Given the description of an element on the screen output the (x, y) to click on. 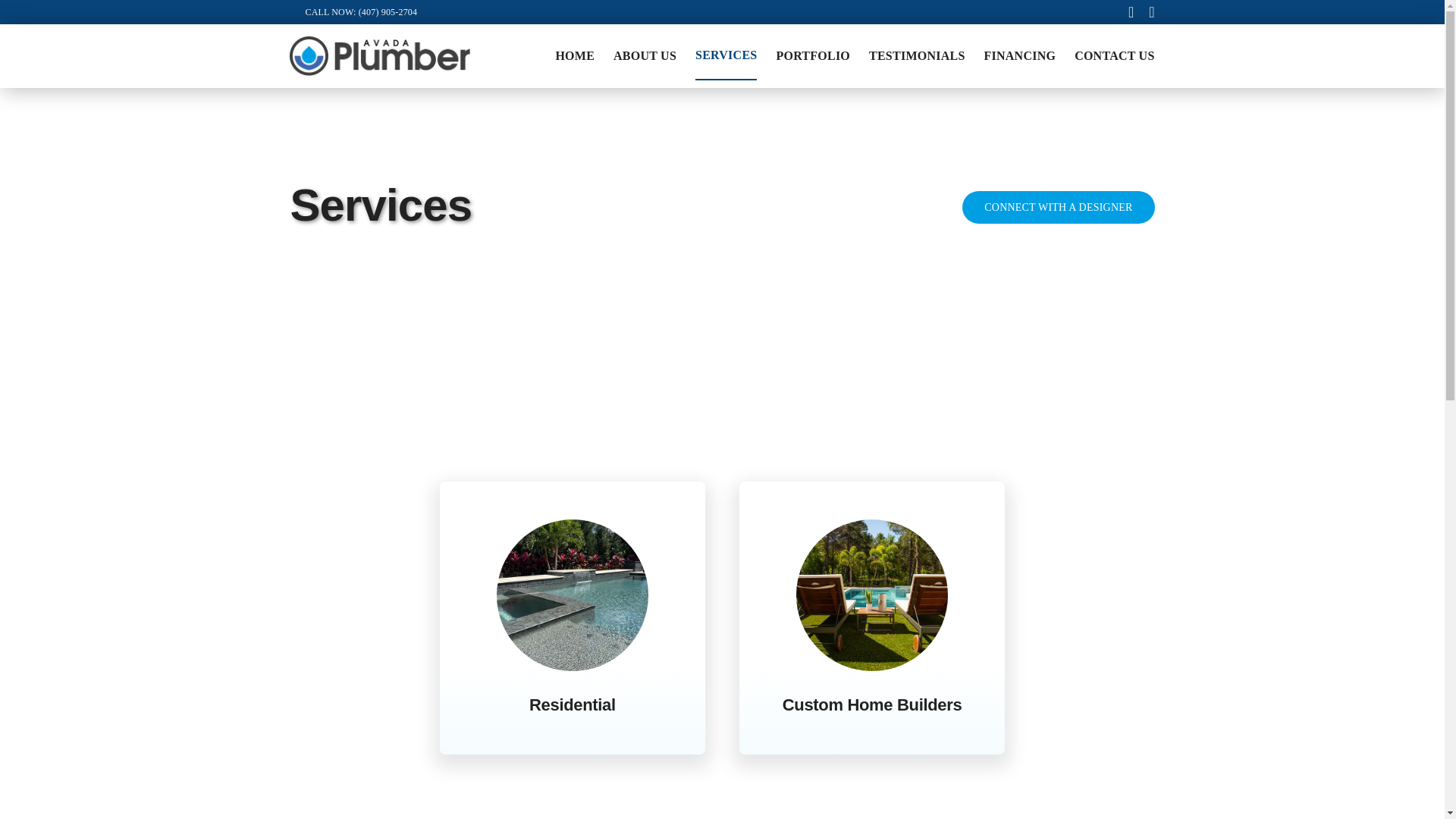
SERVICES (726, 55)
FINANCING (1020, 55)
ResidentialImage (571, 594)
CONNECT WITH A DESIGNER (1058, 206)
Connect With A Designer (1058, 206)
TESTIMONIALS (916, 55)
CONTACT US (1114, 55)
PORTFOLIO (813, 55)
ABOUT US (644, 55)
CustomHomeBuilders (871, 594)
